Given the description of an element on the screen output the (x, y) to click on. 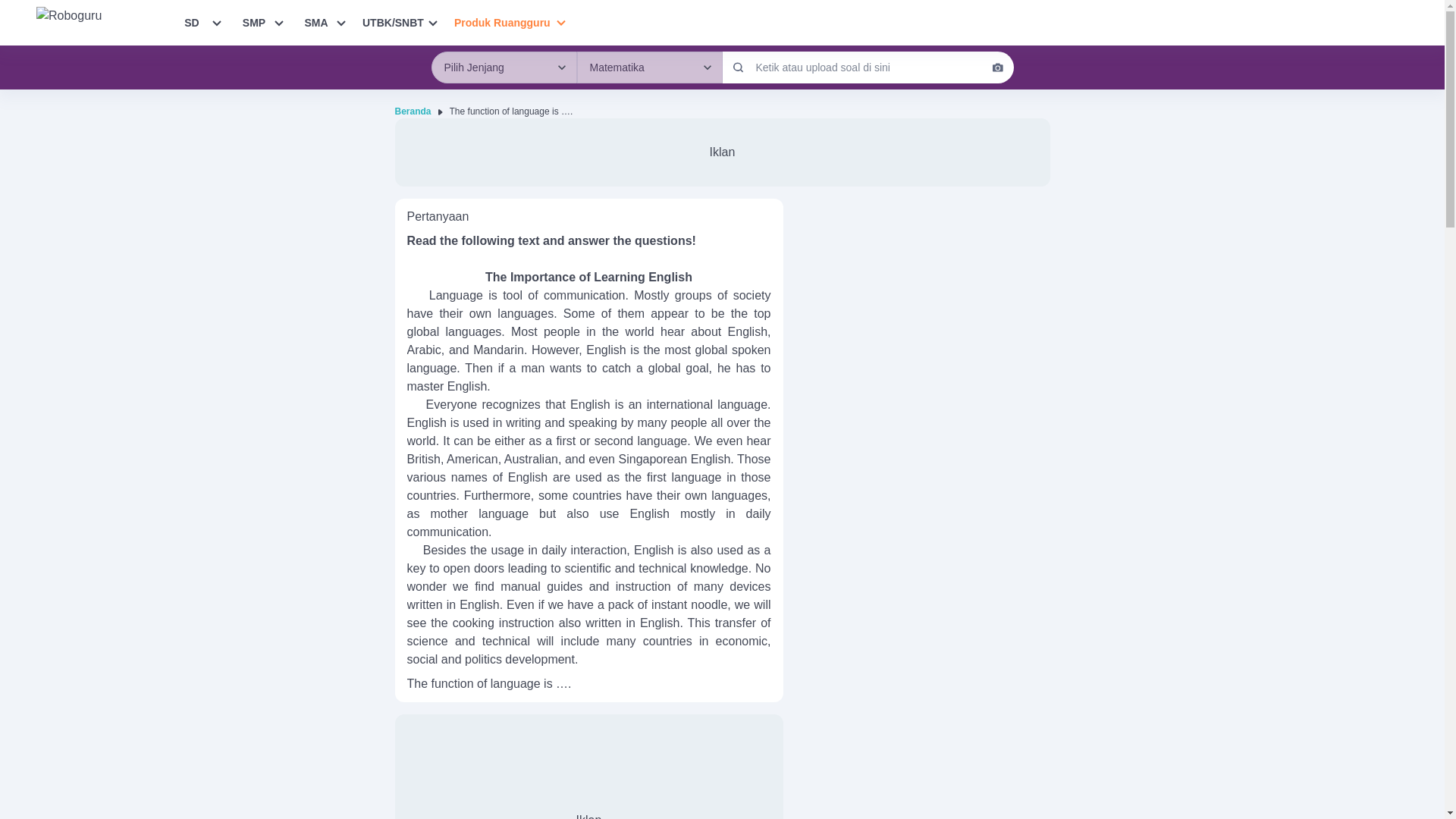
Roboguru (99, 22)
Roboguru (106, 22)
SD (192, 22)
SMP (253, 22)
SD (192, 22)
SMA (315, 22)
SMP (253, 22)
